Given the description of an element on the screen output the (x, y) to click on. 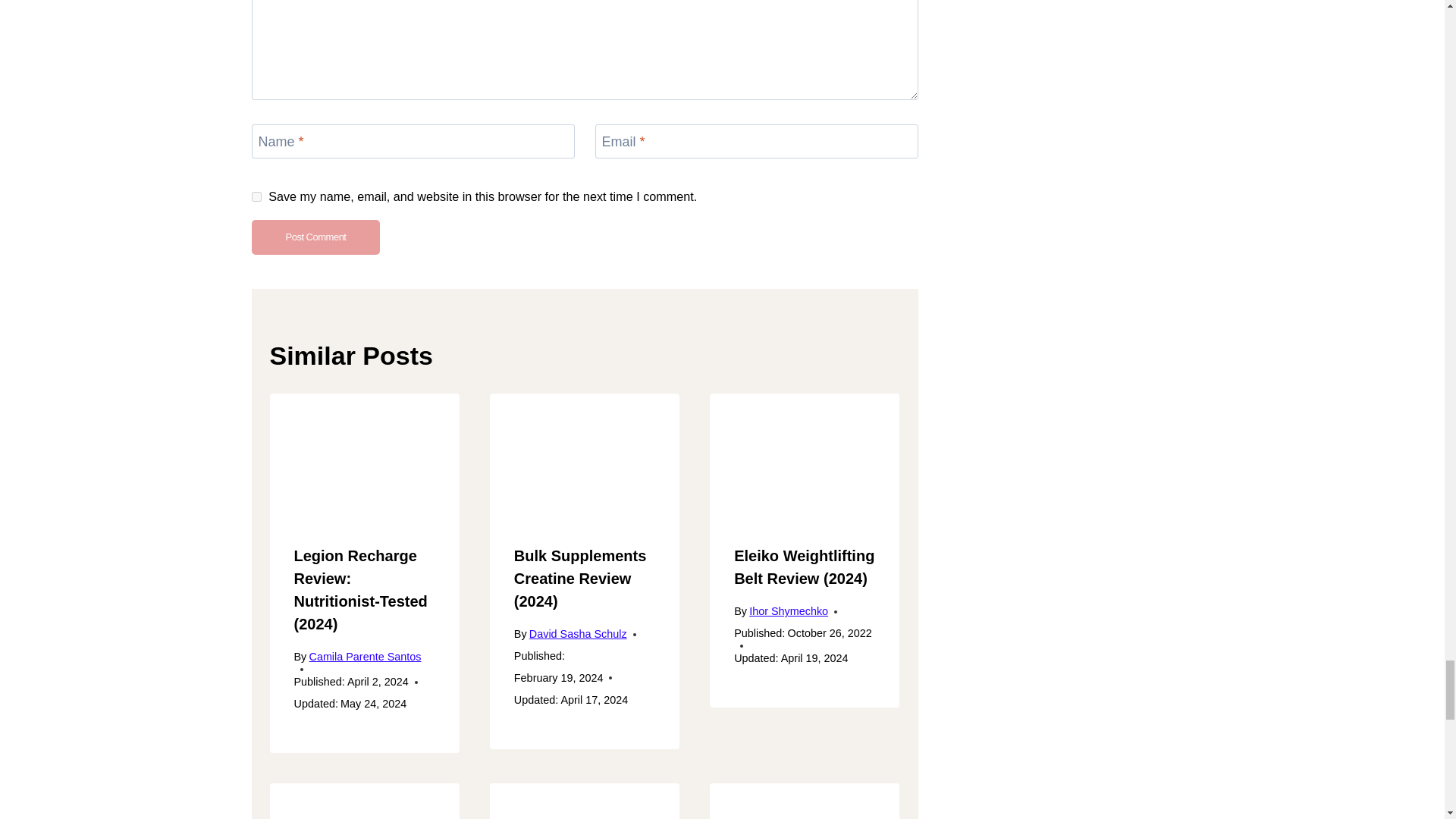
yes (256, 196)
Post Comment (315, 237)
